Given the description of an element on the screen output the (x, y) to click on. 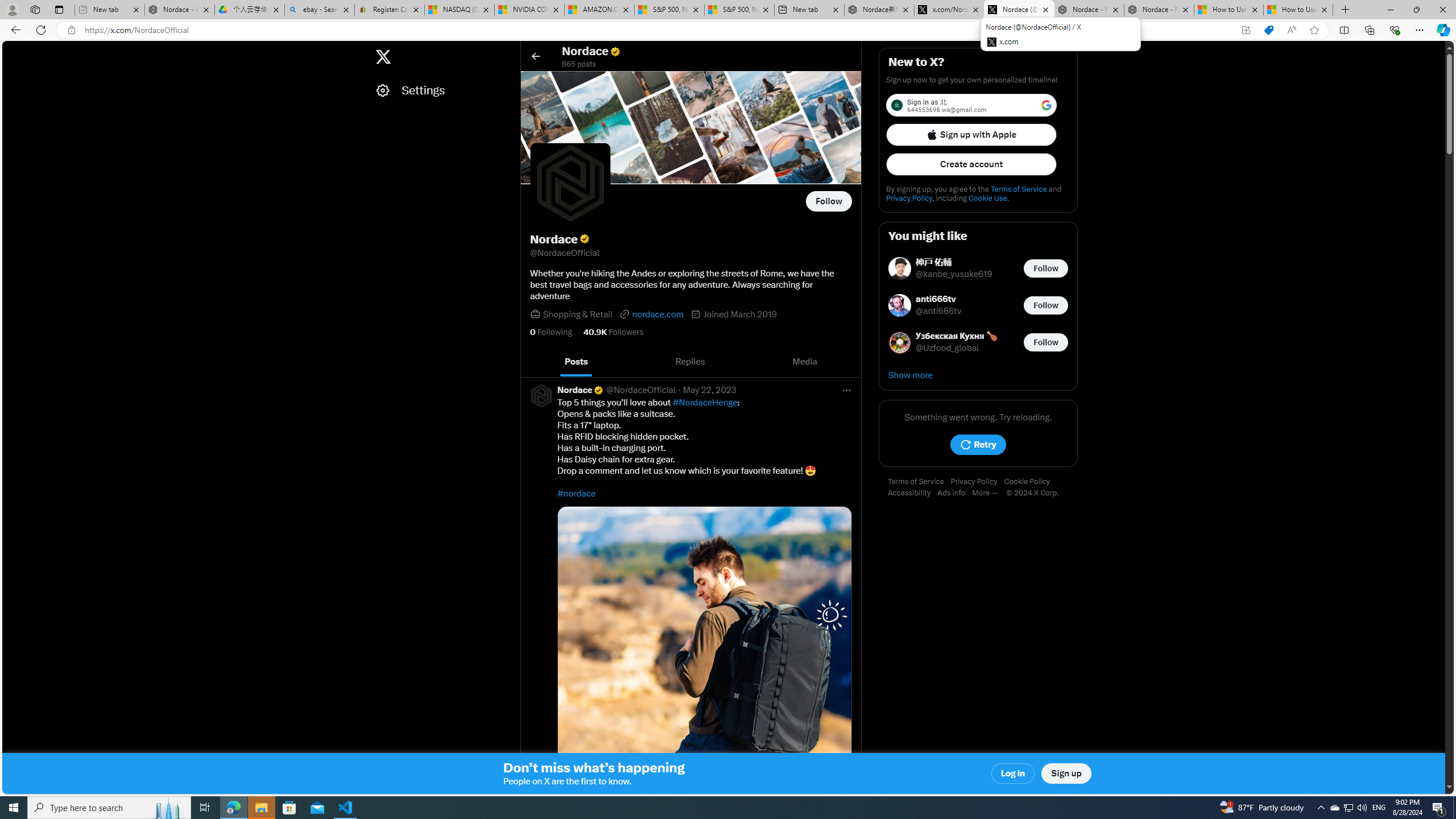
Show more (978, 375)
anti666tv @anti666tv Follow @anti666tv (978, 305)
Media (804, 361)
Terms of Service (919, 481)
Accessibility (912, 492)
Square profile picture and Opens profile photo (570, 182)
anti666tv (938, 299)
